Given the description of an element on the screen output the (x, y) to click on. 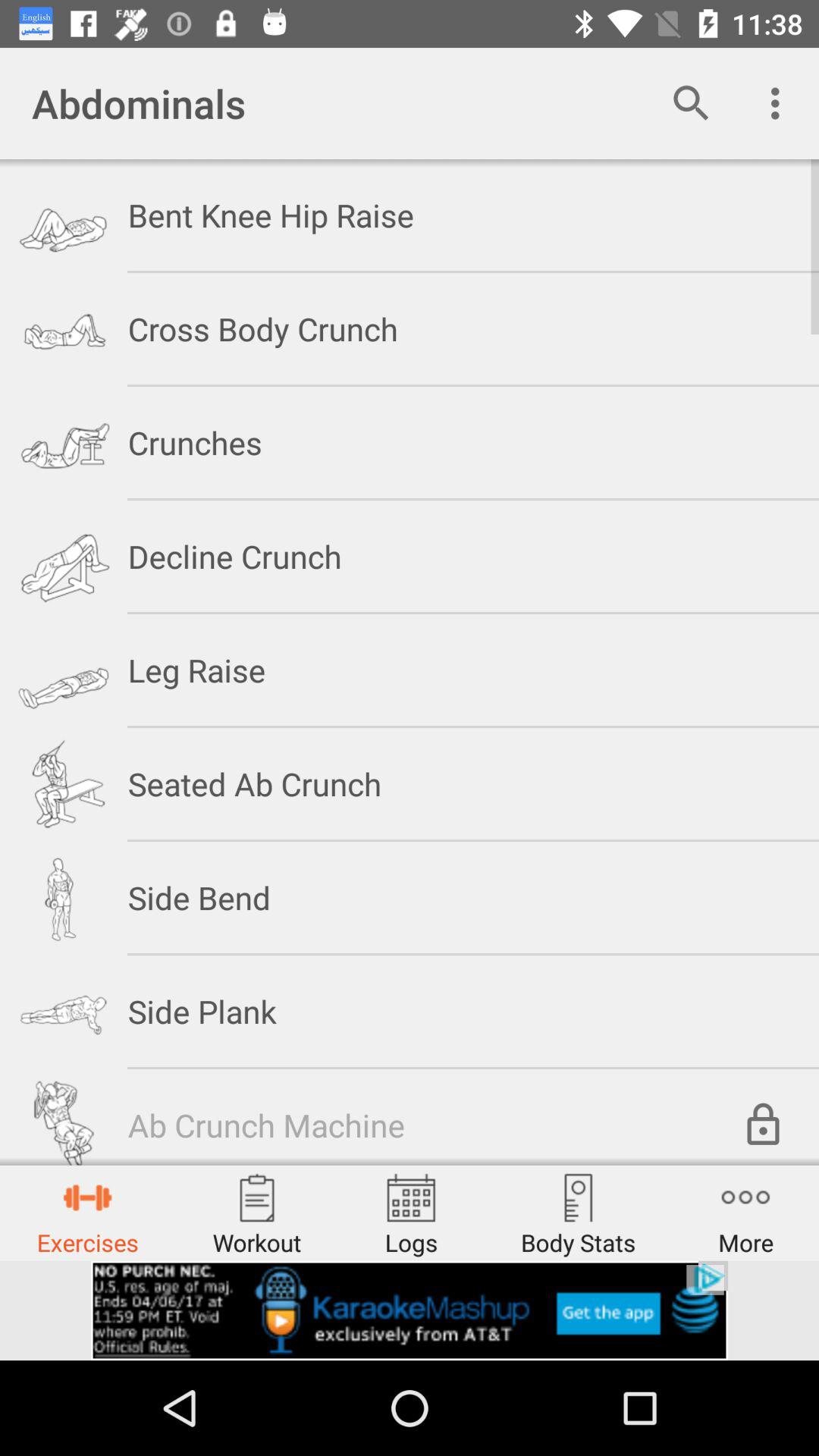
advertisement (409, 1310)
